Given the description of an element on the screen output the (x, y) to click on. 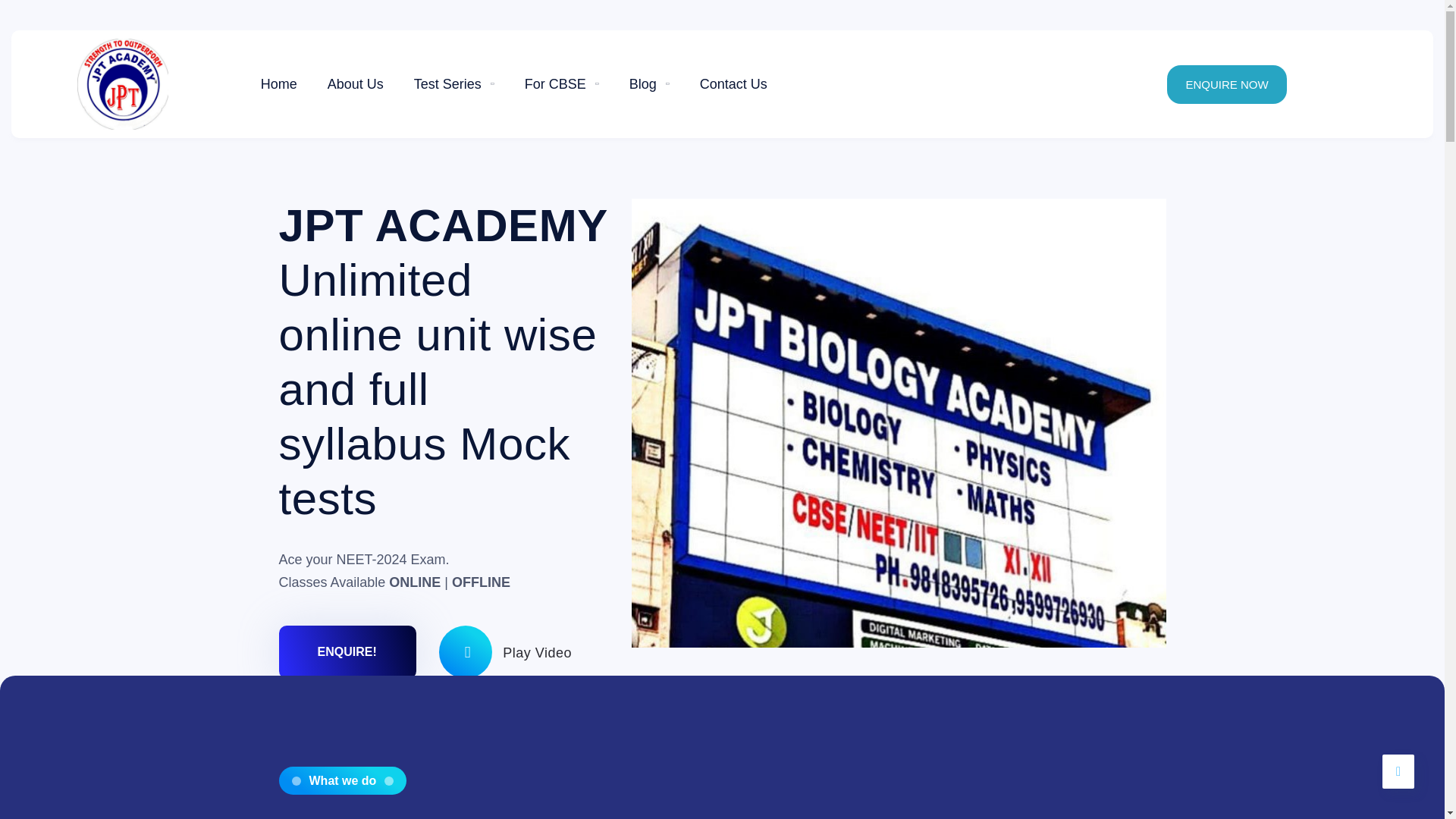
For CBSE (561, 84)
Contact Us (733, 84)
Test Series (454, 84)
ENQUIRE NOW (1226, 84)
